Given the description of an element on the screen output the (x, y) to click on. 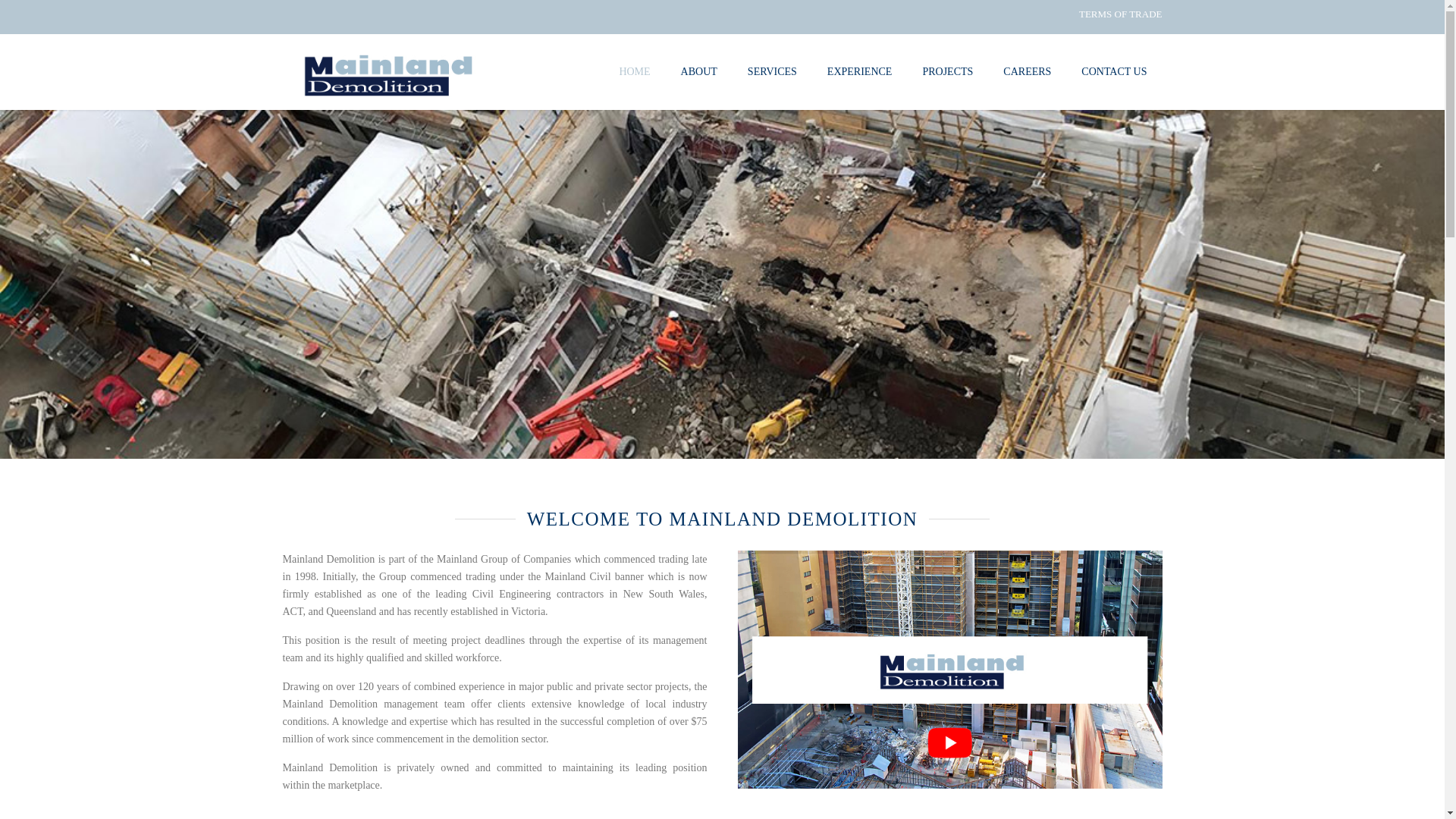
CONTACT US Element type: text (1113, 71)
TERMS OF TRADE Element type: text (1120, 13)
SERVICES Element type: text (772, 71)
HOME Element type: text (633, 71)
CAREERS Element type: text (1027, 71)
ABOUT Element type: text (698, 71)
EXPERIENCE Element type: text (859, 71)
PROJECTS Element type: text (947, 71)
